Given the description of an element on the screen output the (x, y) to click on. 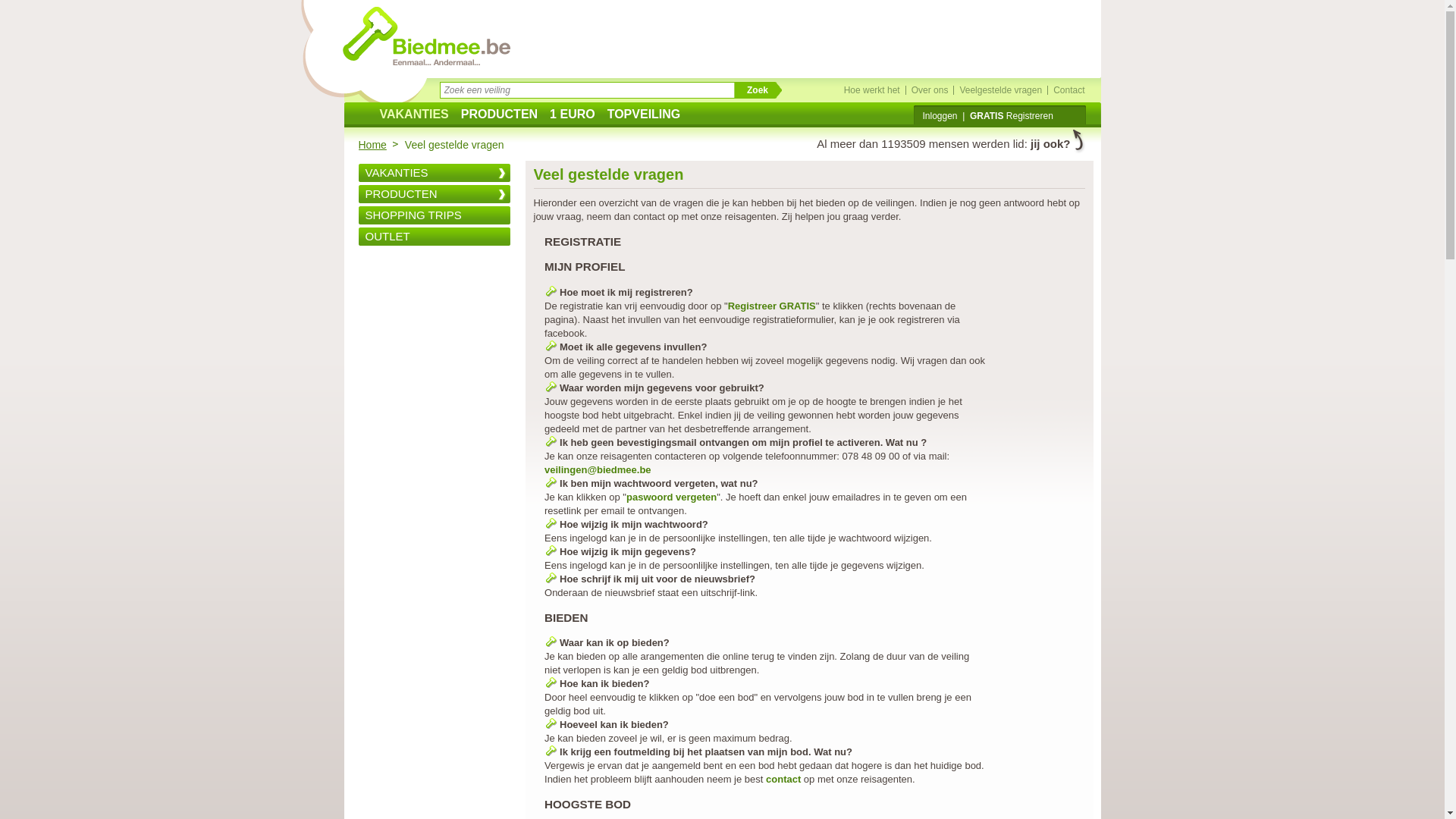
Contact Element type: text (1068, 89)
Zoek Element type: text (757, 90)
Veelgestelde vragen Element type: text (1000, 89)
Inloggen Element type: text (939, 115)
TOPVEILING Element type: text (643, 116)
PRODUCTEN Element type: text (433, 194)
contact Element type: text (782, 778)
veilingen@biedmee.be Element type: text (597, 469)
Hoe werkt het Element type: text (872, 89)
VAKANTIES Element type: text (433, 172)
Registreer GRATIS Element type: text (771, 305)
OUTLET Element type: text (433, 236)
GRATIS Registreren Element type: text (1011, 115)
PRODUCTEN Element type: text (498, 116)
Home Element type: text (377, 144)
Biedmee.be Eenmaal... Andermaal... Element type: text (426, 35)
SHOPPING TRIPS Element type: text (433, 215)
paswoord vergeten Element type: text (671, 496)
Over ons Element type: text (929, 89)
VAKANTIES Element type: text (413, 116)
1 EURO Element type: text (571, 116)
